Given the description of an element on the screen output the (x, y) to click on. 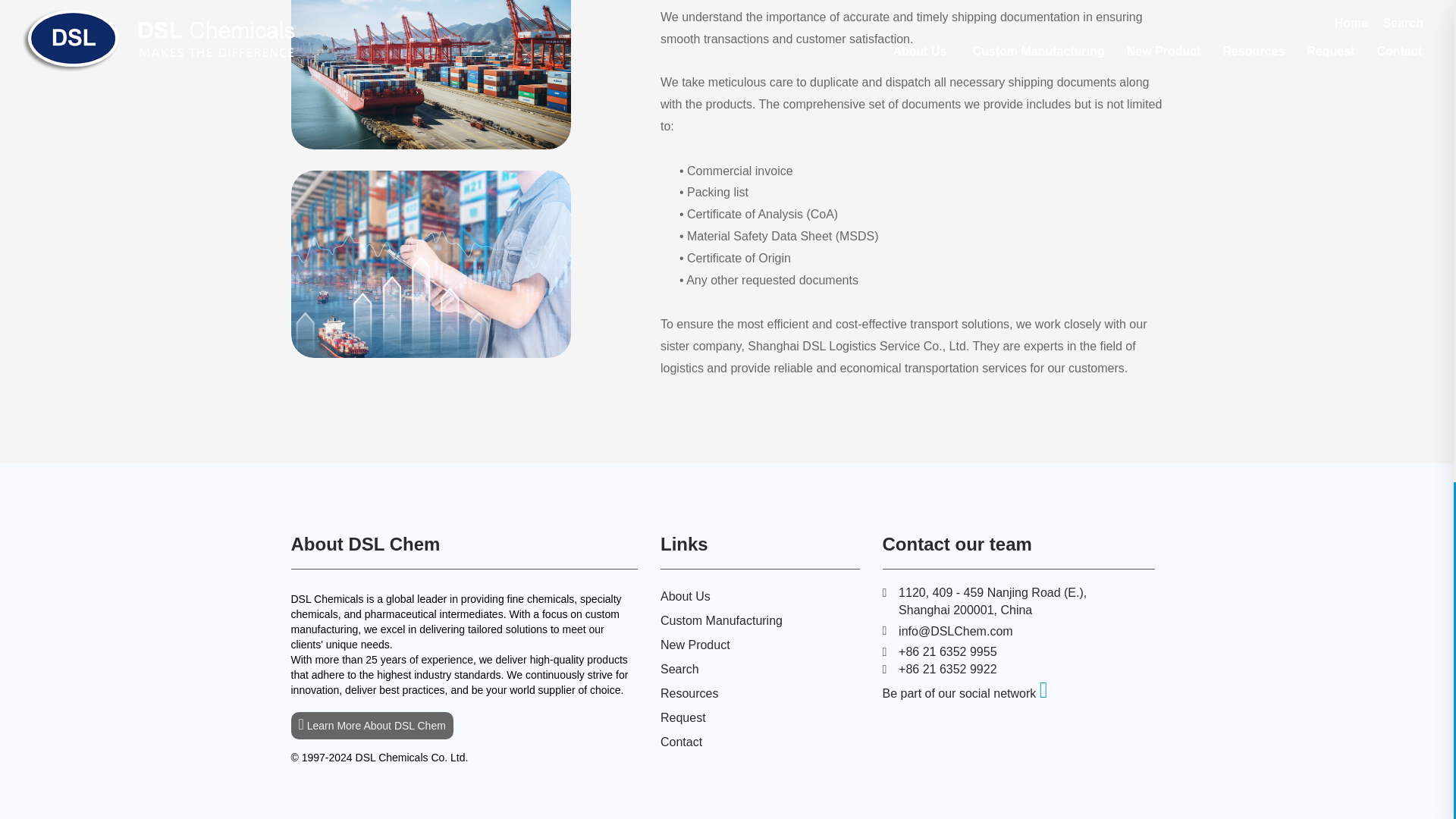
New Product (695, 644)
Request (683, 717)
Learn More About DSL Chem (371, 725)
Search (679, 668)
Custom Manufacturing (722, 620)
Resources (689, 693)
About Us (685, 595)
